Given the description of an element on the screen output the (x, y) to click on. 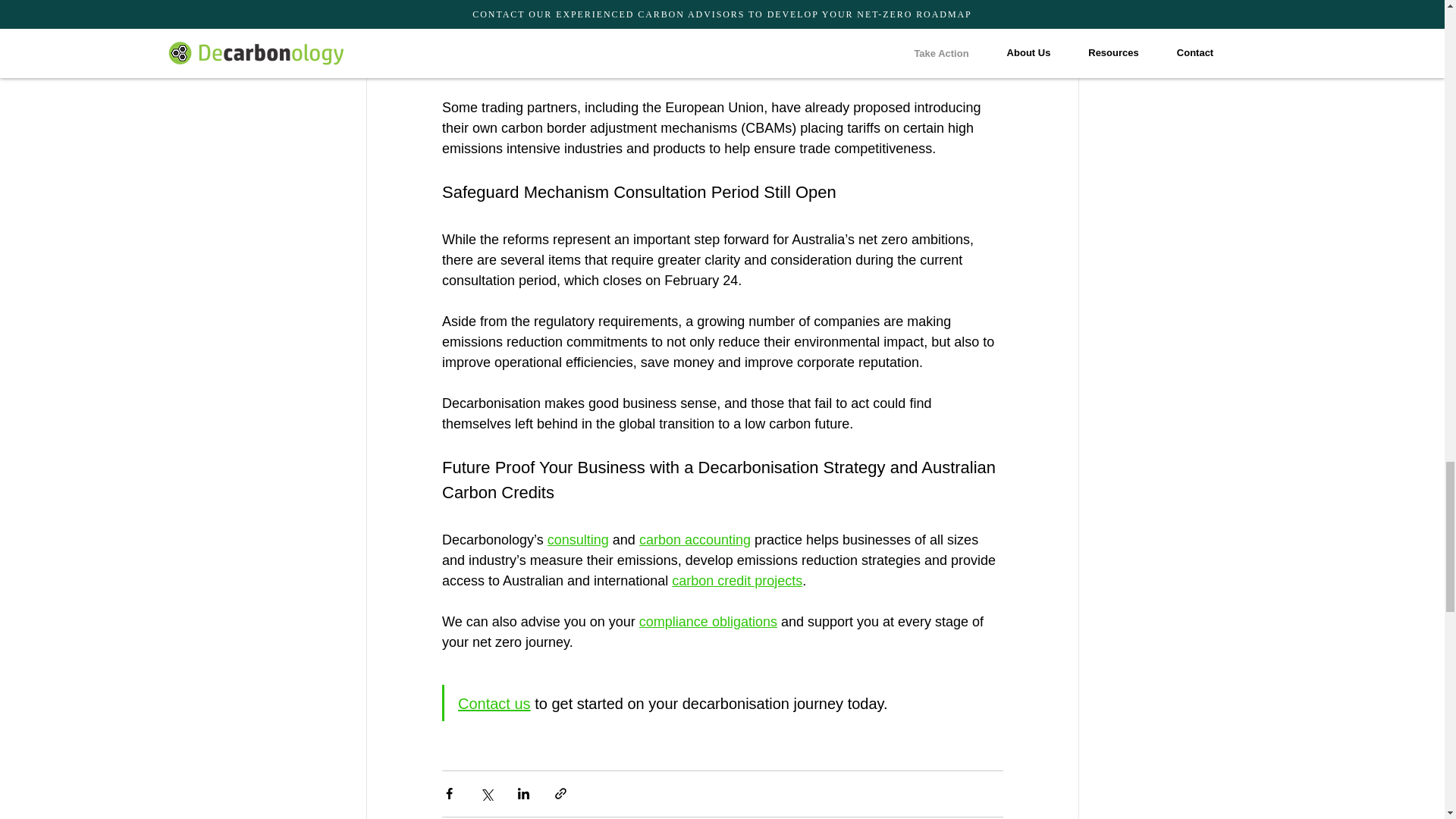
carbon accounting (694, 539)
consulting (577, 539)
compliance obligations (707, 621)
carbon credit projects (736, 580)
Contact us (494, 702)
